Given the description of an element on the screen output the (x, y) to click on. 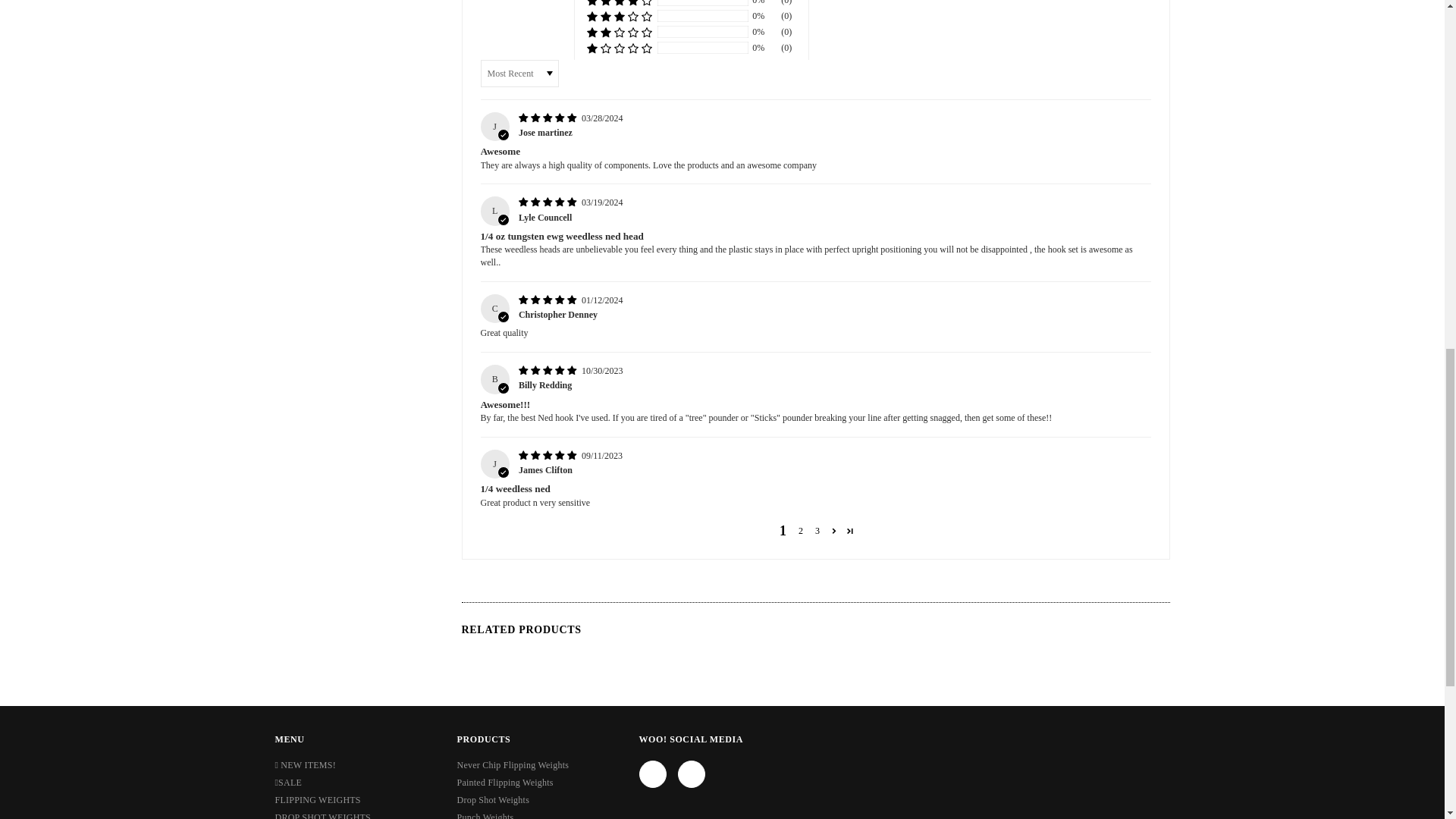
Facebook (652, 773)
Instagram (691, 773)
